Given the description of an element on the screen output the (x, y) to click on. 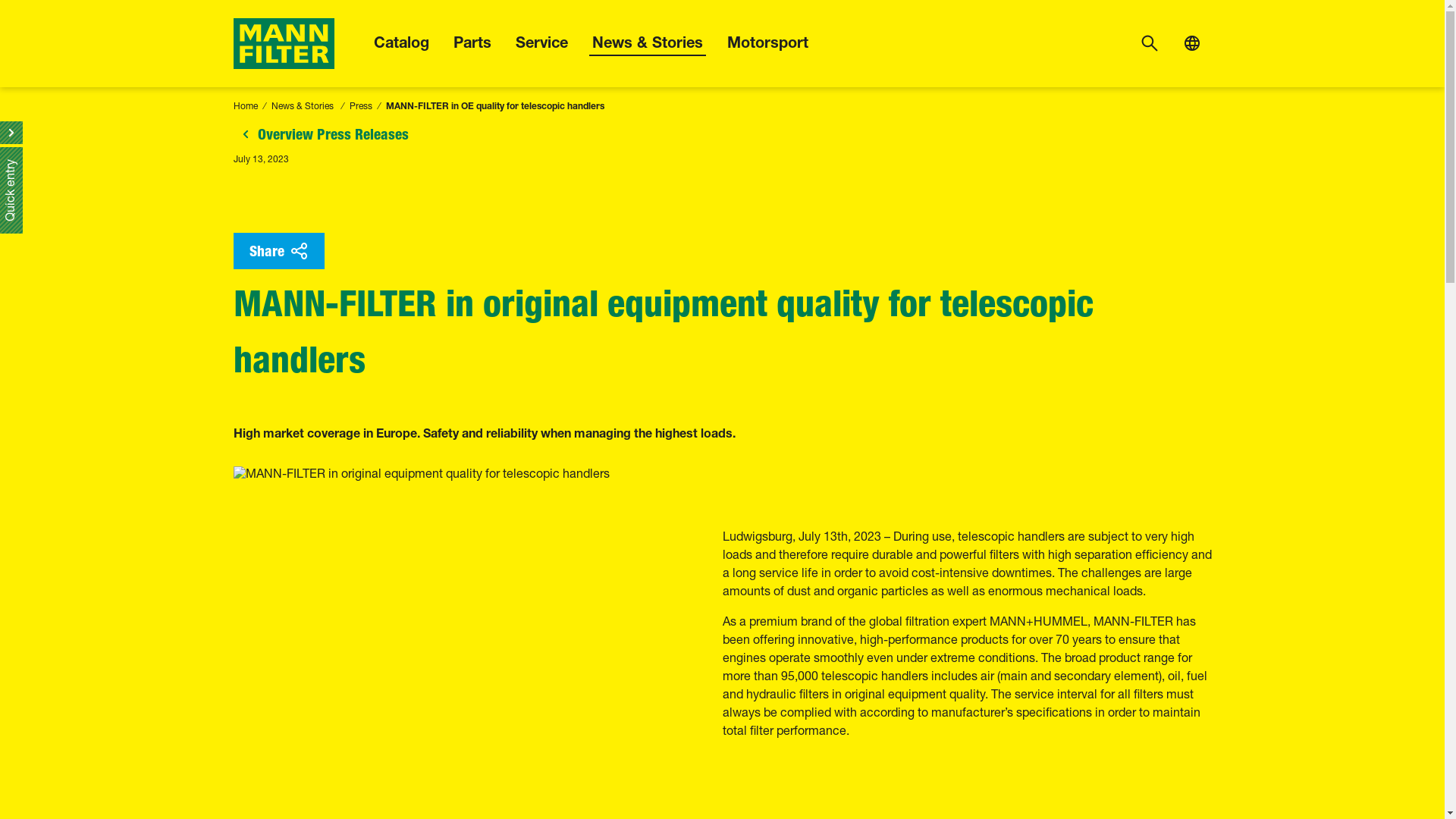
MANN-FILTER logo (283, 43)
Motorsport (767, 41)
Service (541, 41)
Catalog (400, 41)
Parts (472, 41)
